Given the description of an element on the screen output the (x, y) to click on. 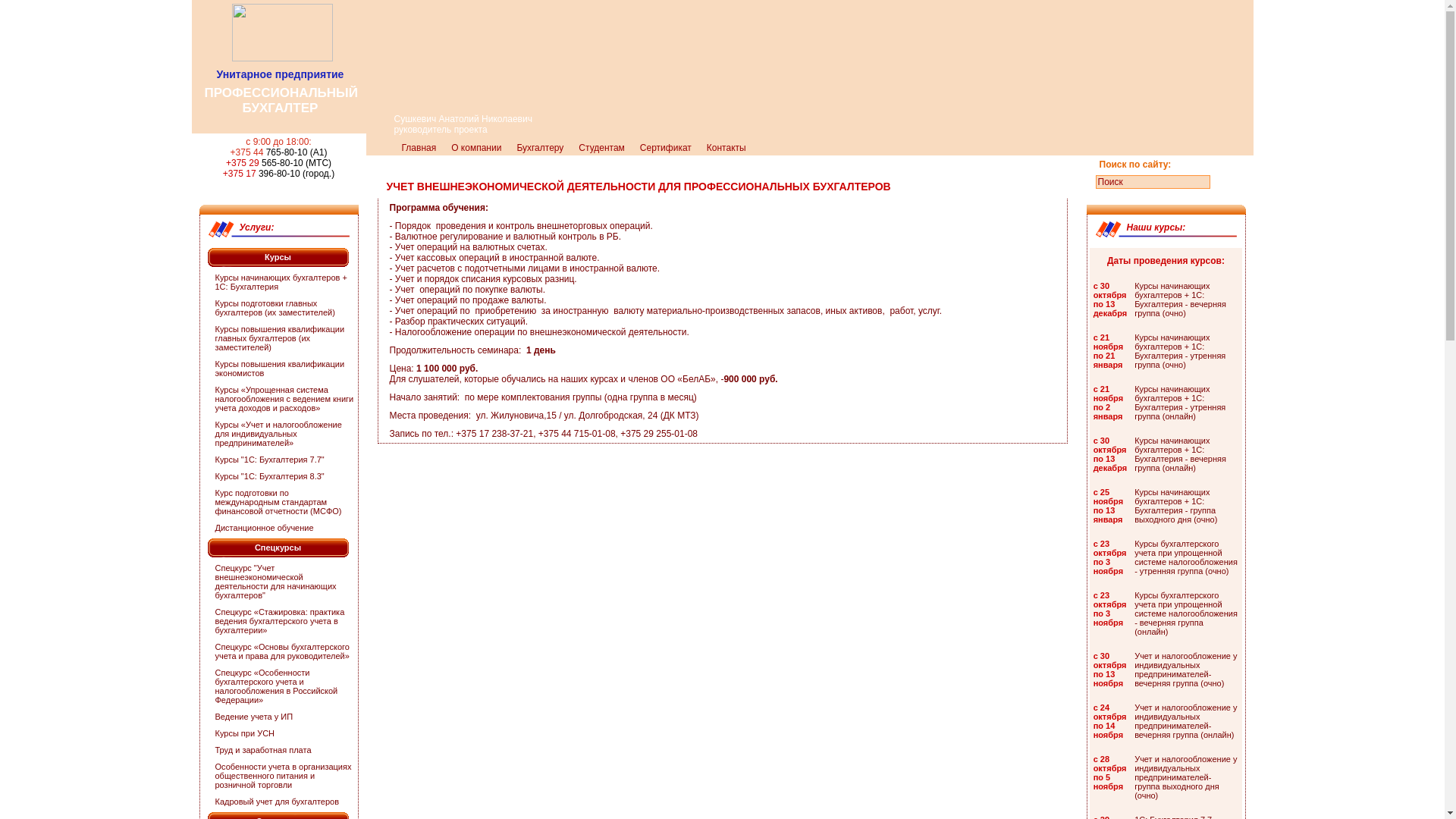
  Element type: text (1107, 197)
